Given the description of an element on the screen output the (x, y) to click on. 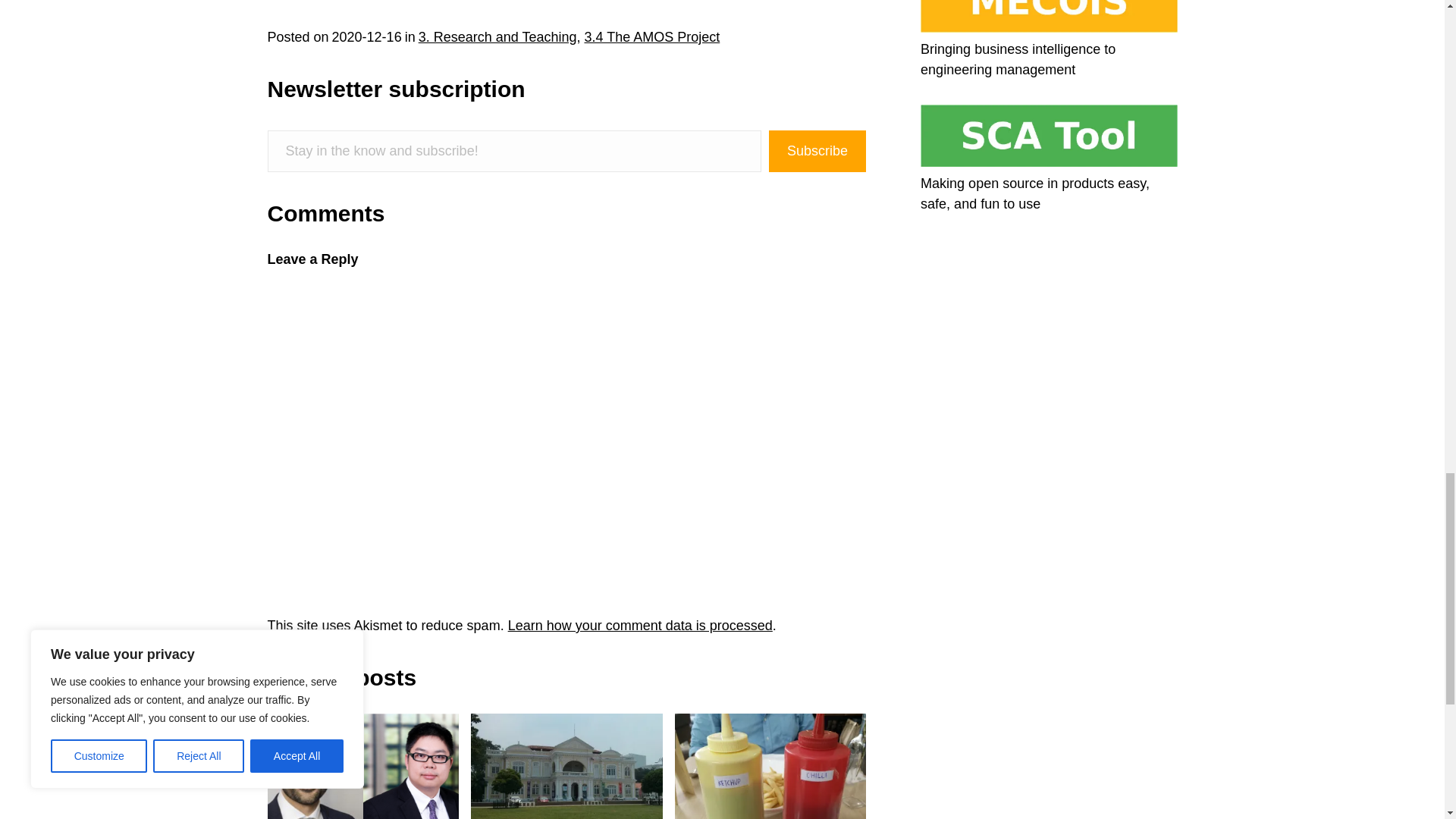
Please fill in this field. (513, 150)
